Given the description of an element on the screen output the (x, y) to click on. 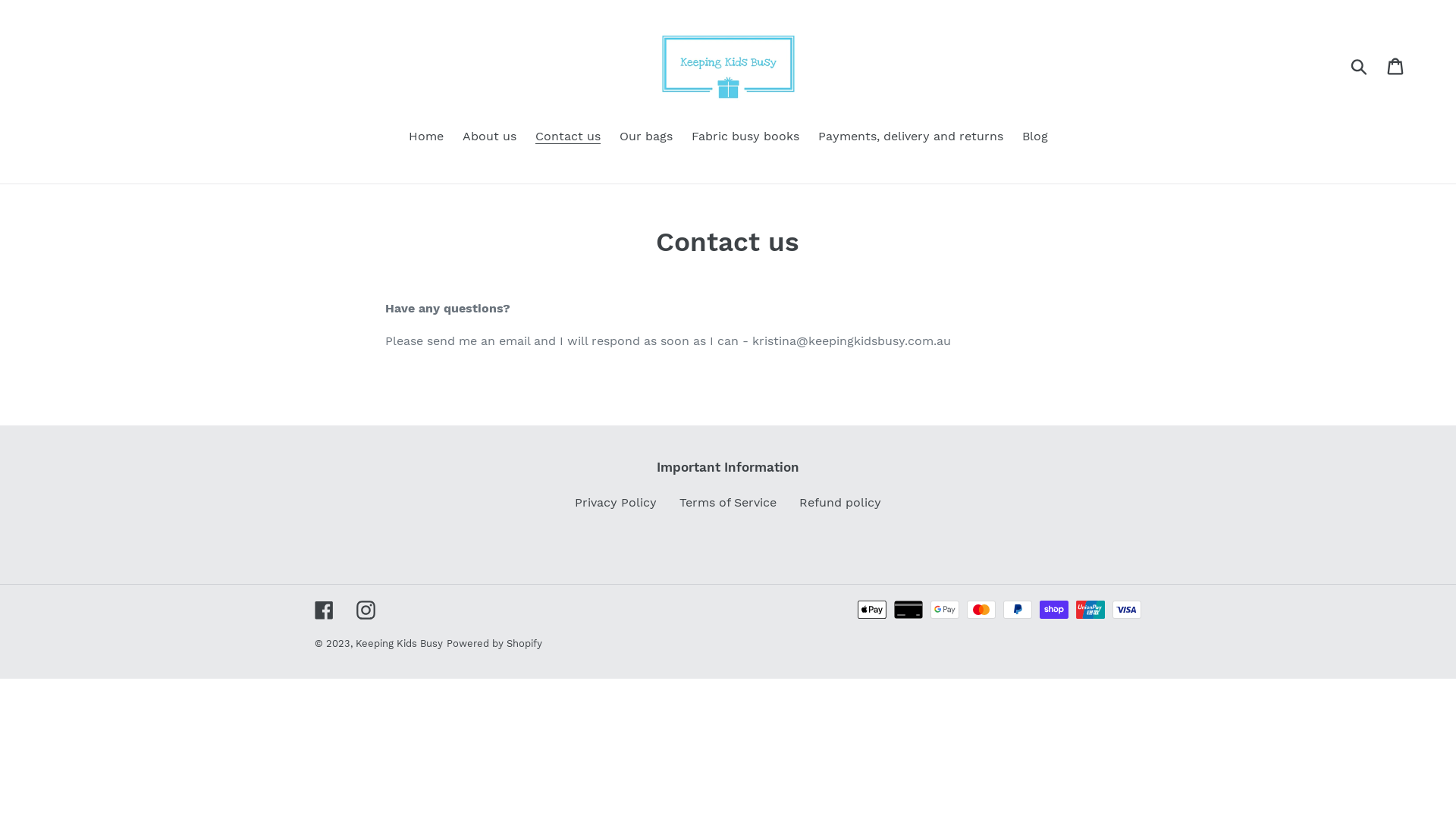
Cart Element type: text (1396, 65)
Keeping Kids Busy Element type: text (398, 643)
Our bags Element type: text (645, 137)
Refund policy Element type: text (840, 502)
Instagram Element type: text (365, 609)
About us Element type: text (489, 137)
Facebook Element type: text (323, 609)
Contact us Element type: text (567, 137)
Powered by Shopify Element type: text (494, 643)
Privacy Policy Element type: text (615, 502)
Payments, delivery and returns Element type: text (909, 137)
Terms of Service Element type: text (727, 502)
Blog Element type: text (1034, 137)
Fabric busy books Element type: text (745, 137)
Submit Element type: text (1359, 64)
Home Element type: text (425, 137)
